Given the description of an element on the screen output the (x, y) to click on. 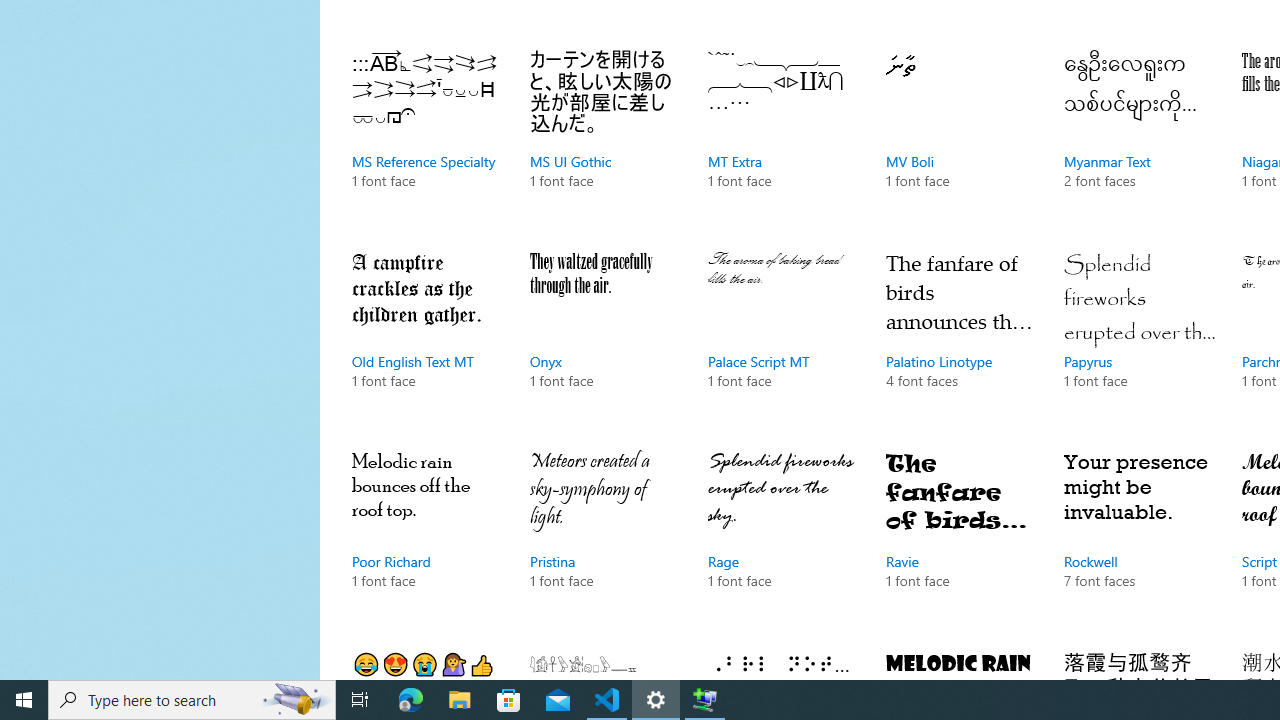
Rage, 1 font face (783, 539)
Ravie, 1 font face (961, 539)
Old English Text MT, 1 font face (426, 339)
MT Extra, 1 font face (783, 139)
Segoe UI Emoji, 1 font face (426, 659)
Pristina, 1 font face (604, 539)
Extensible Wizards Host Process - 1 running window (704, 699)
Segoe UI Historic, 1 font face (604, 659)
MS UI Gothic, 1 font face (604, 139)
Papyrus, 1 font face (1138, 339)
Myanmar Text, 2 font faces (1138, 139)
Palace Script MT, 1 font face (783, 339)
